Given the description of an element on the screen output the (x, y) to click on. 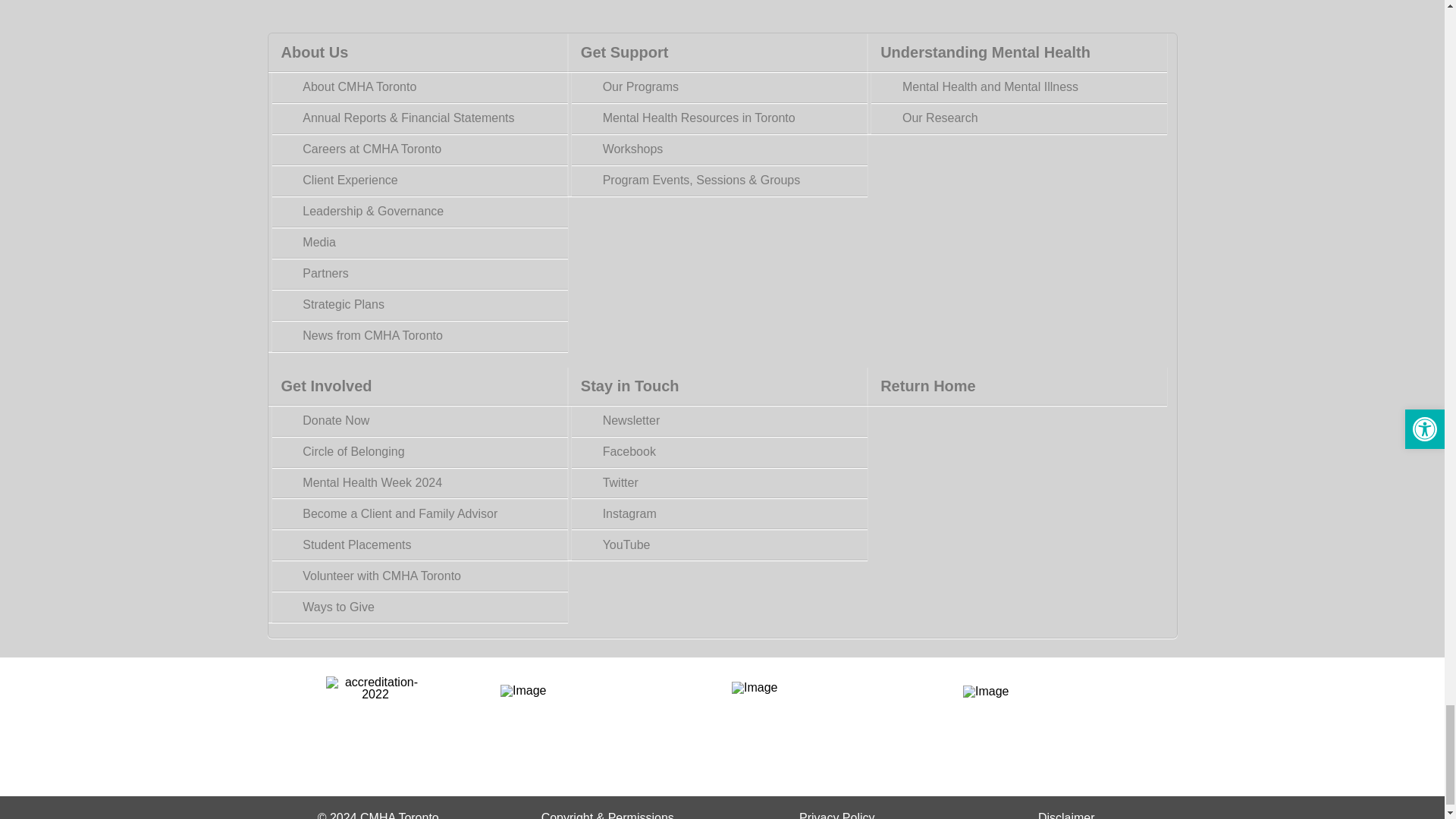
Disclaimer (1066, 815)
Copyright and Permissions (607, 815)
Privacy Policy (837, 815)
